Given the description of an element on the screen output the (x, y) to click on. 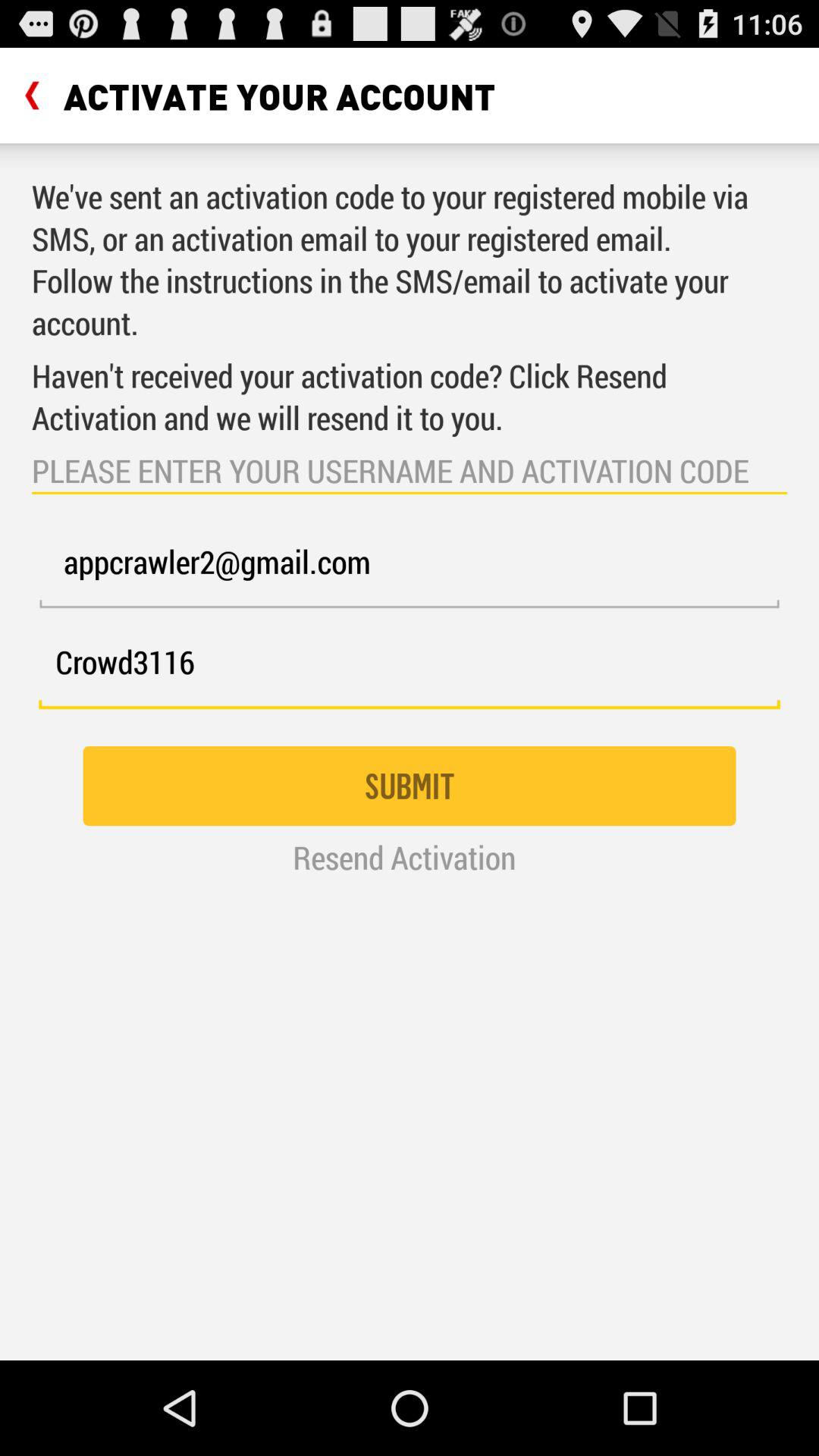
turn on the icon below appcrawler2@gmail.com icon (409, 671)
